Given the description of an element on the screen output the (x, y) to click on. 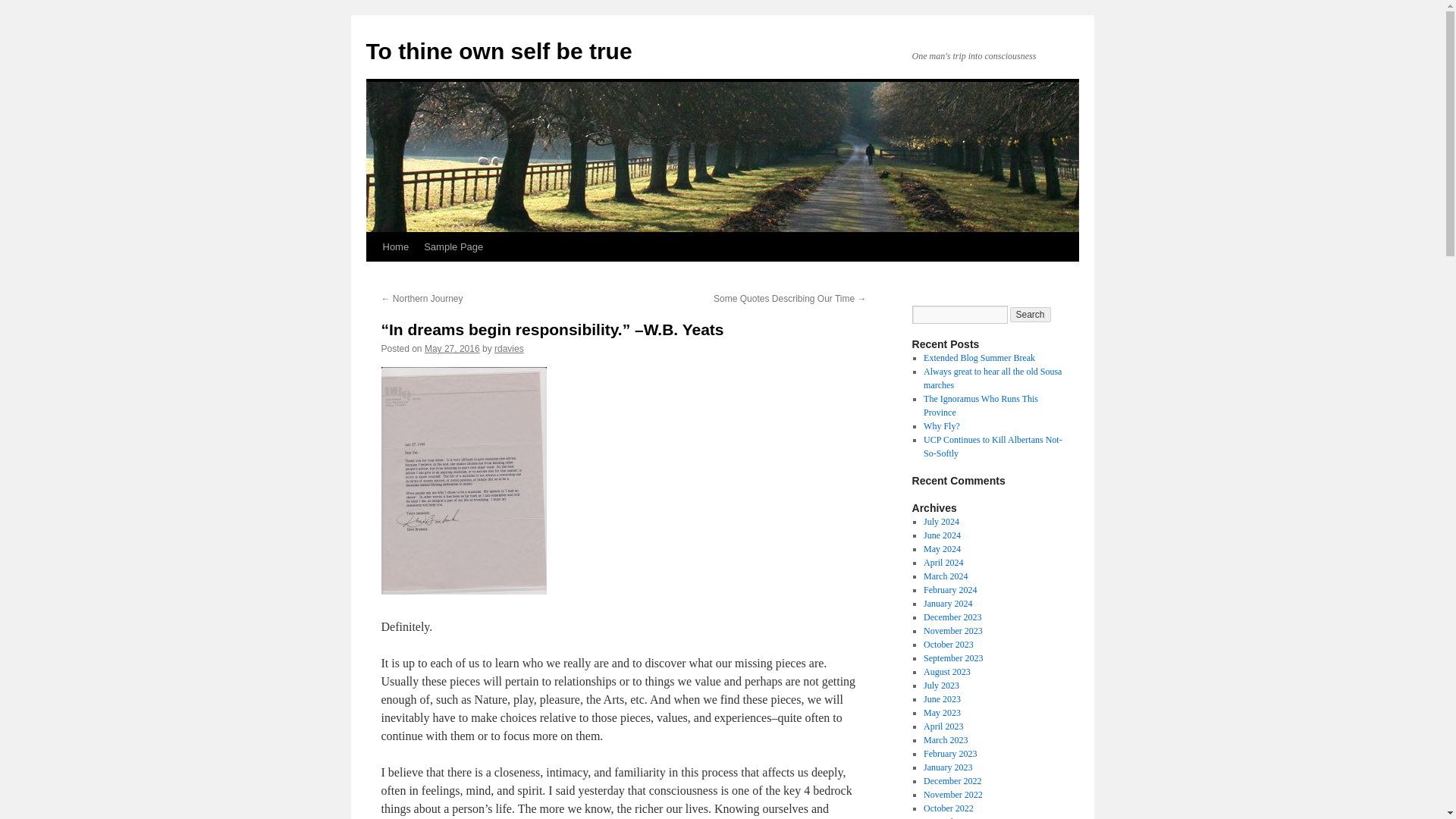
February 2023 (949, 753)
11:44 am (452, 348)
May 2023 (941, 712)
March 2023 (945, 739)
Search (1030, 314)
Search (1030, 314)
June 2024 (941, 534)
January 2023 (947, 767)
rdavies (509, 348)
Extended Blog Summer Break (979, 357)
January 2024 (947, 603)
May 2024 (941, 548)
View all posts by rdavies (509, 348)
February 2024 (949, 589)
The Ignoramus Who Runs This Province (980, 405)
